Given the description of an element on the screen output the (x, y) to click on. 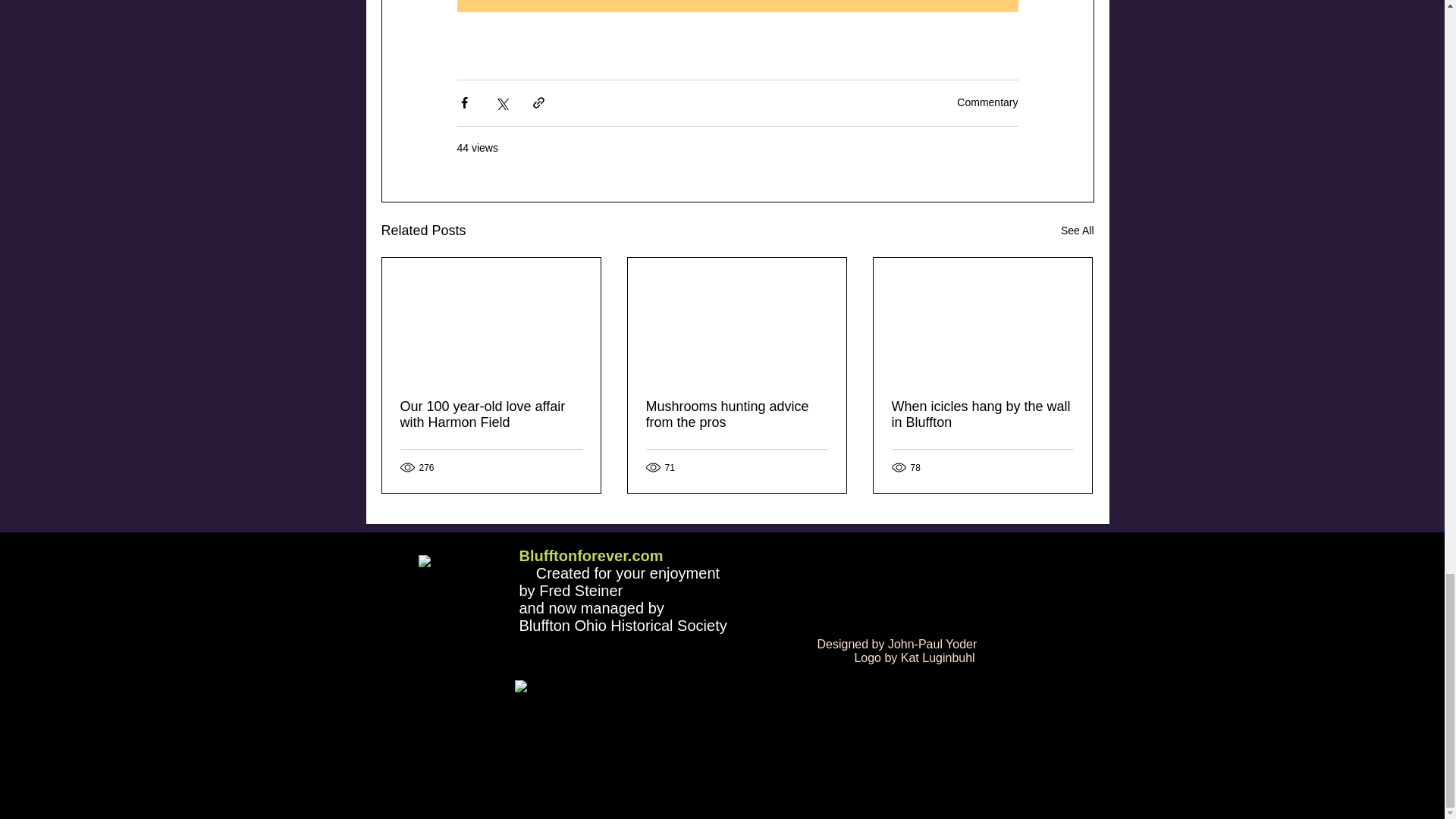
BF memberships copy.jpg (708, 736)
See All (1077, 230)
Mushrooms hunting advice from the pros (737, 414)
Our 100 year-old love affair with Harmon Field (491, 414)
Commentary (986, 102)
